Given the description of an element on the screen output the (x, y) to click on. 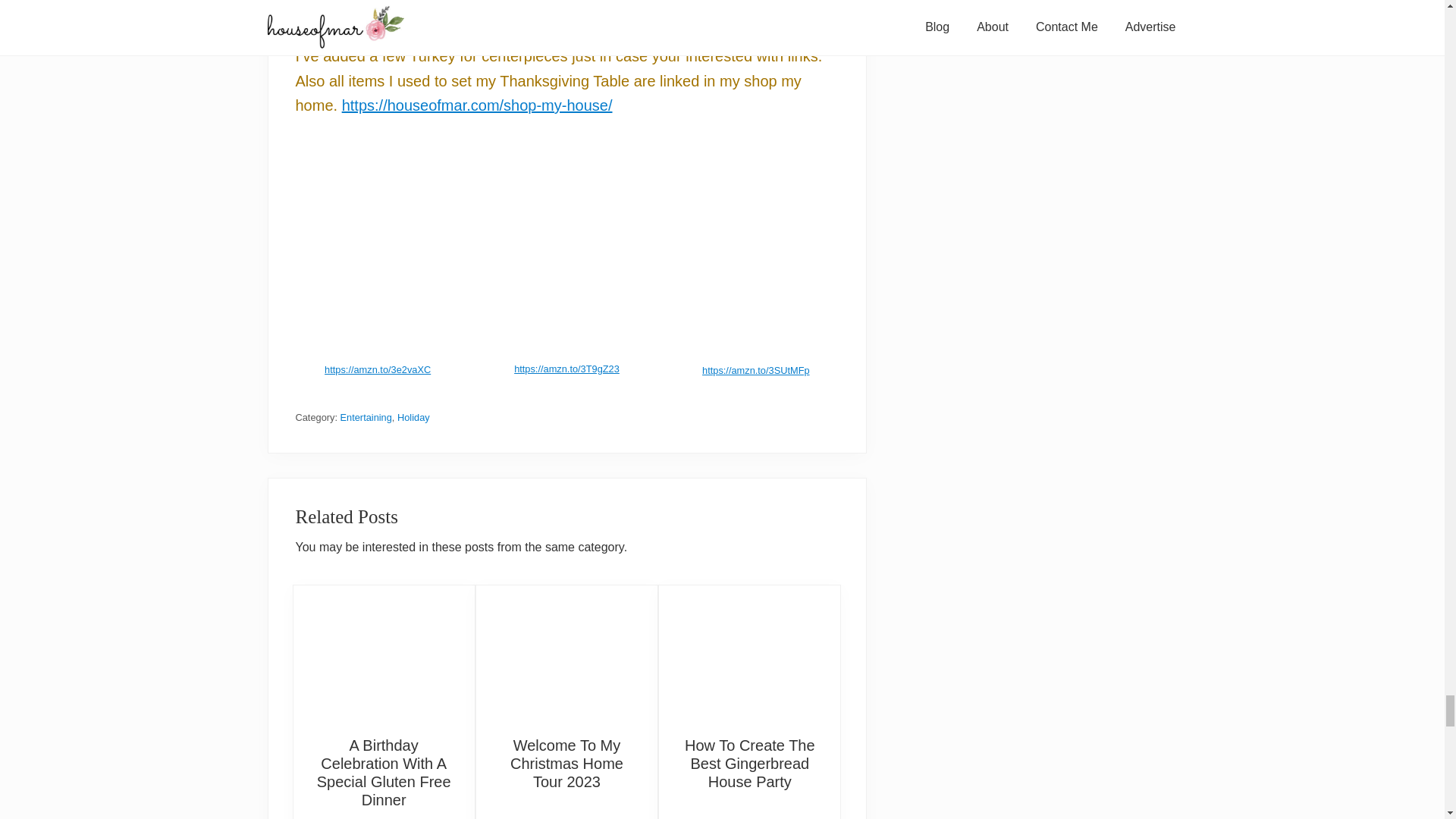
Welcome To My Christmas Home Tour 2023 (567, 652)
How To Create The Best Gingerbread House Party (749, 763)
A Birthday Celebration With A Special Gluten Free Dinner (384, 652)
A Birthday Celebration With A Special Gluten Free Dinner (384, 772)
How To Create The Best Gingerbread House Party (749, 652)
Welcome To My Christmas Home Tour 2023 (567, 763)
